Given the description of an element on the screen output the (x, y) to click on. 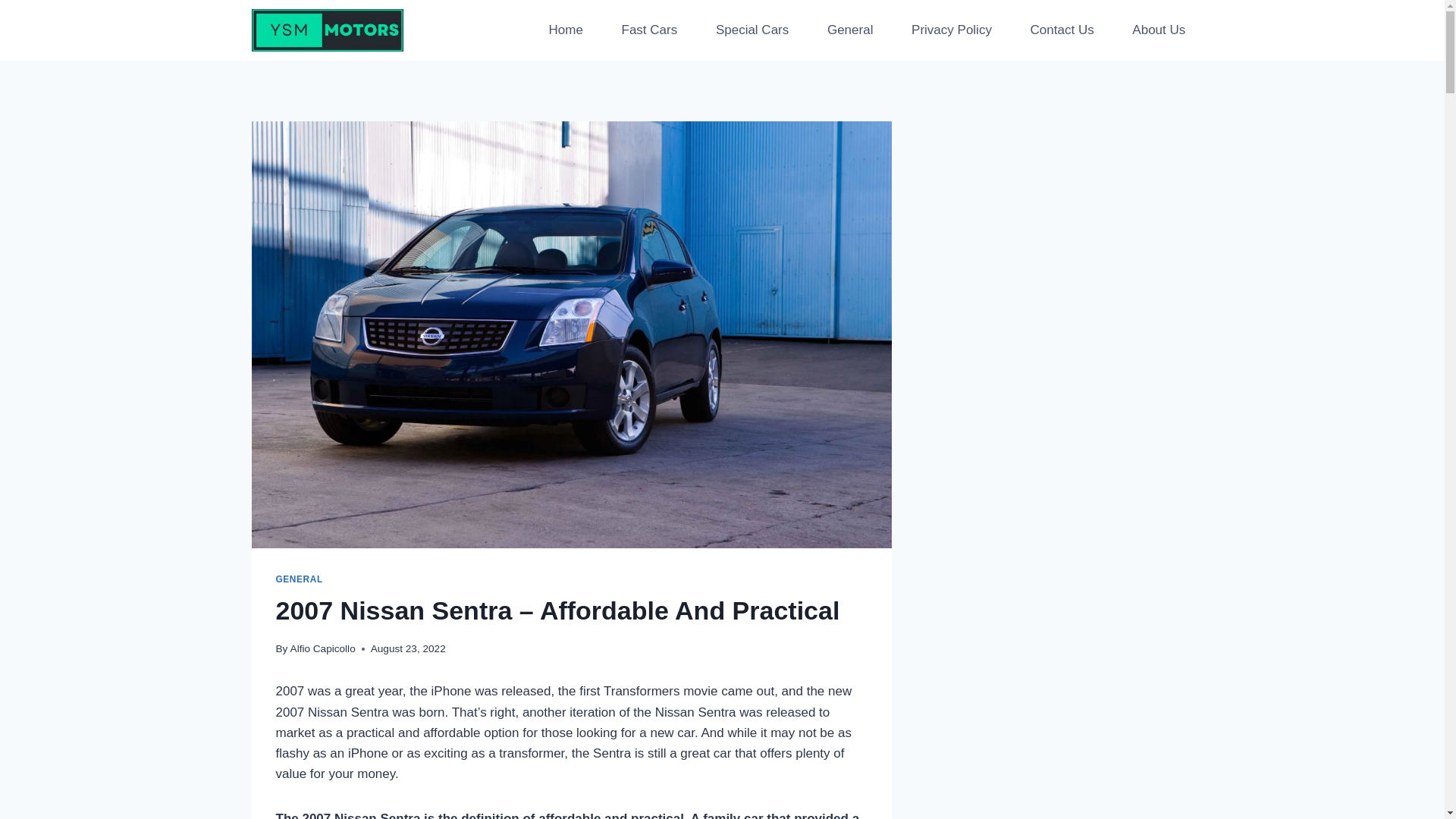
Alfio Capicollo (322, 648)
Home (565, 30)
Special Cars (751, 30)
GENERAL (299, 579)
Privacy Policy (951, 30)
Contact Us (1061, 30)
General (849, 30)
About Us (1158, 30)
Fast Cars (648, 30)
